Given the description of an element on the screen output the (x, y) to click on. 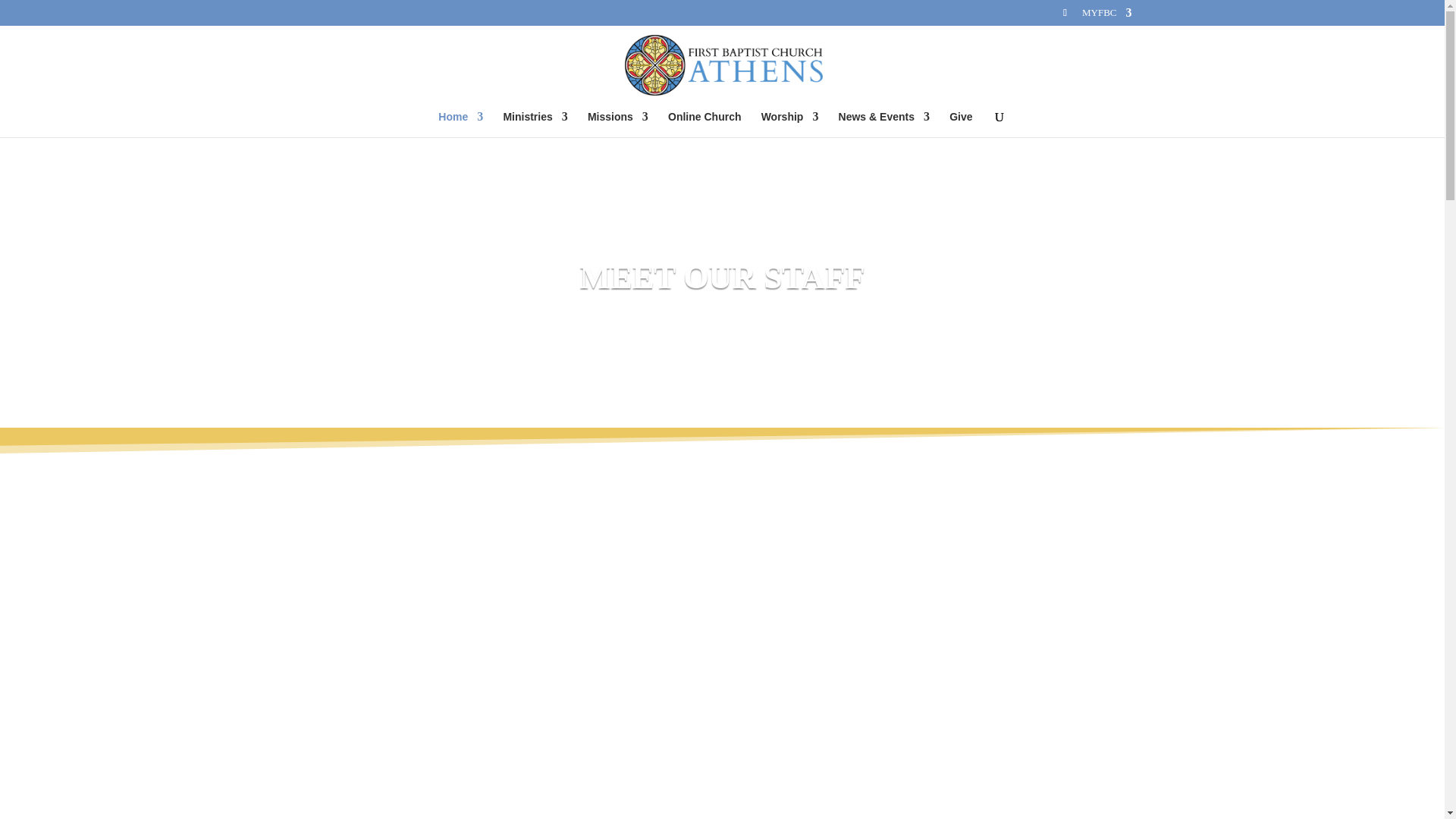
Home (460, 124)
Missions (617, 124)
Worship (789, 124)
Online Church (704, 124)
Ministries (534, 124)
MYFBC (1106, 16)
